Given the description of an element on the screen output the (x, y) to click on. 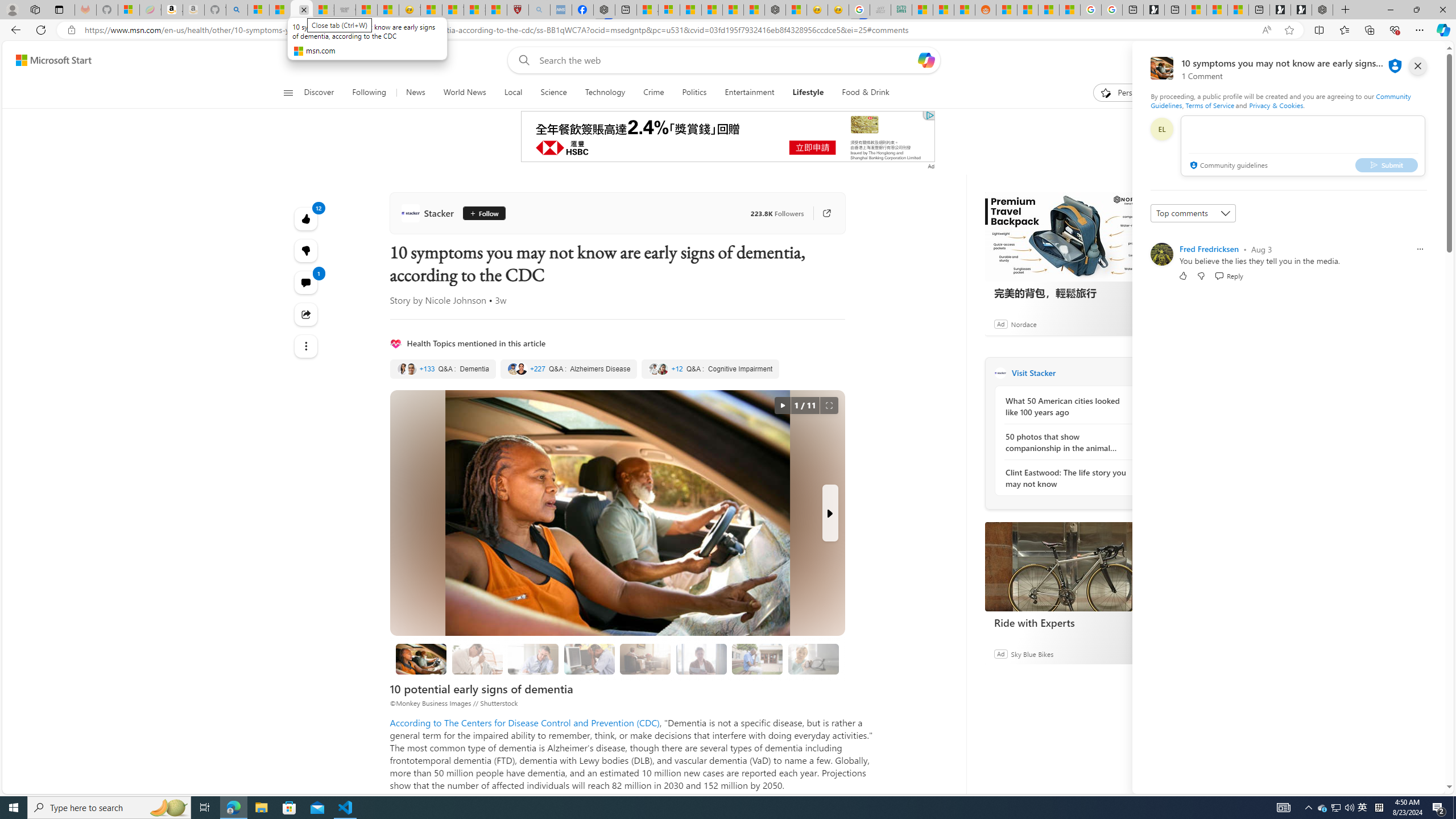
New tab (1258, 9)
Memory loss that disrupts daily life (476, 658)
See more (305, 345)
Alzheimers Disease (568, 368)
Profile Picture (1161, 254)
Clint Eastwood: The life story you may not know (1066, 477)
Follow (484, 213)
Open navigation menu (287, 92)
Nordace (1023, 323)
Challenges in planning or solving problems (533, 659)
